Given the description of an element on the screen output the (x, y) to click on. 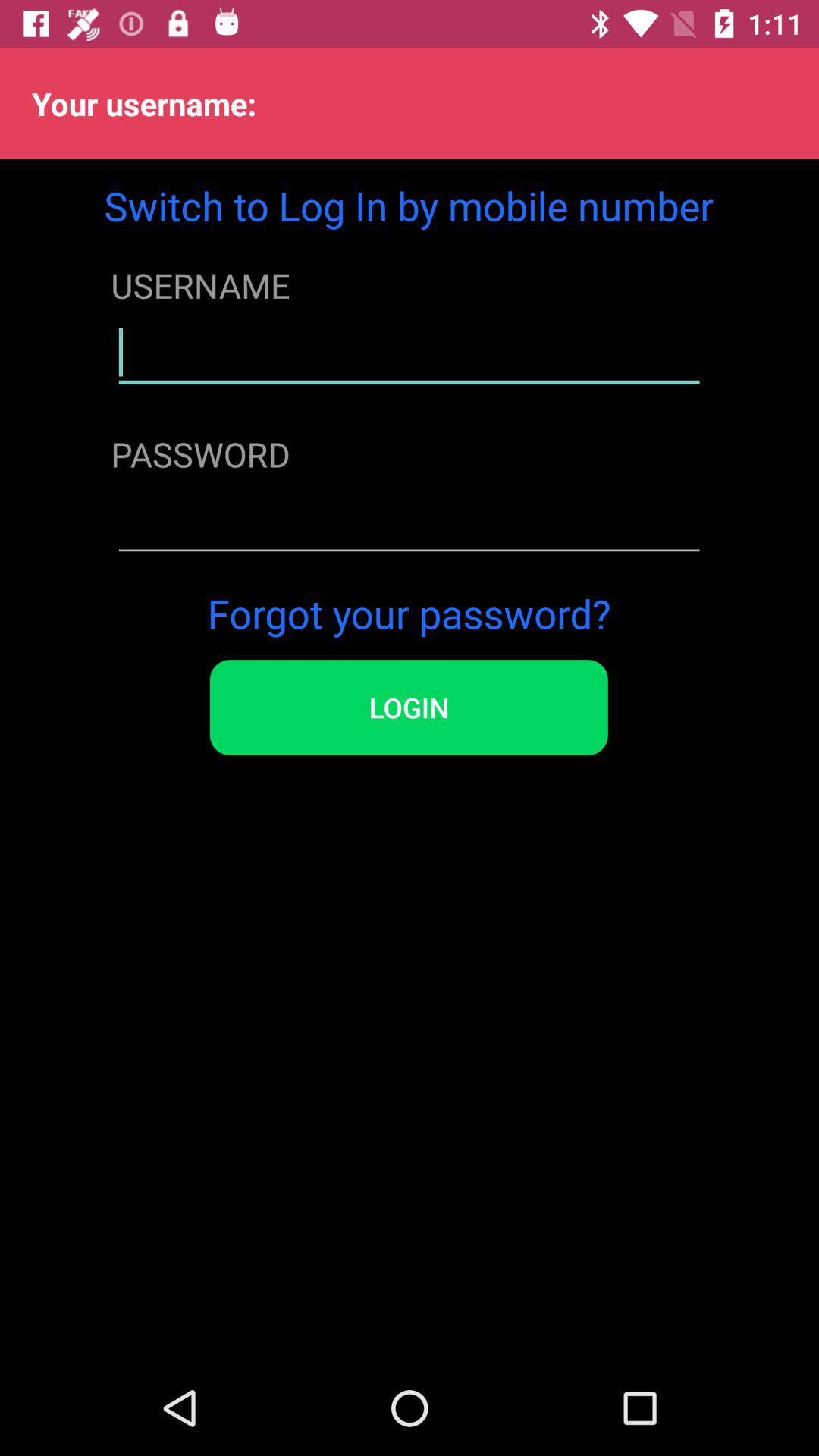
click the icon below the username icon (408, 353)
